Given the description of an element on the screen output the (x, y) to click on. 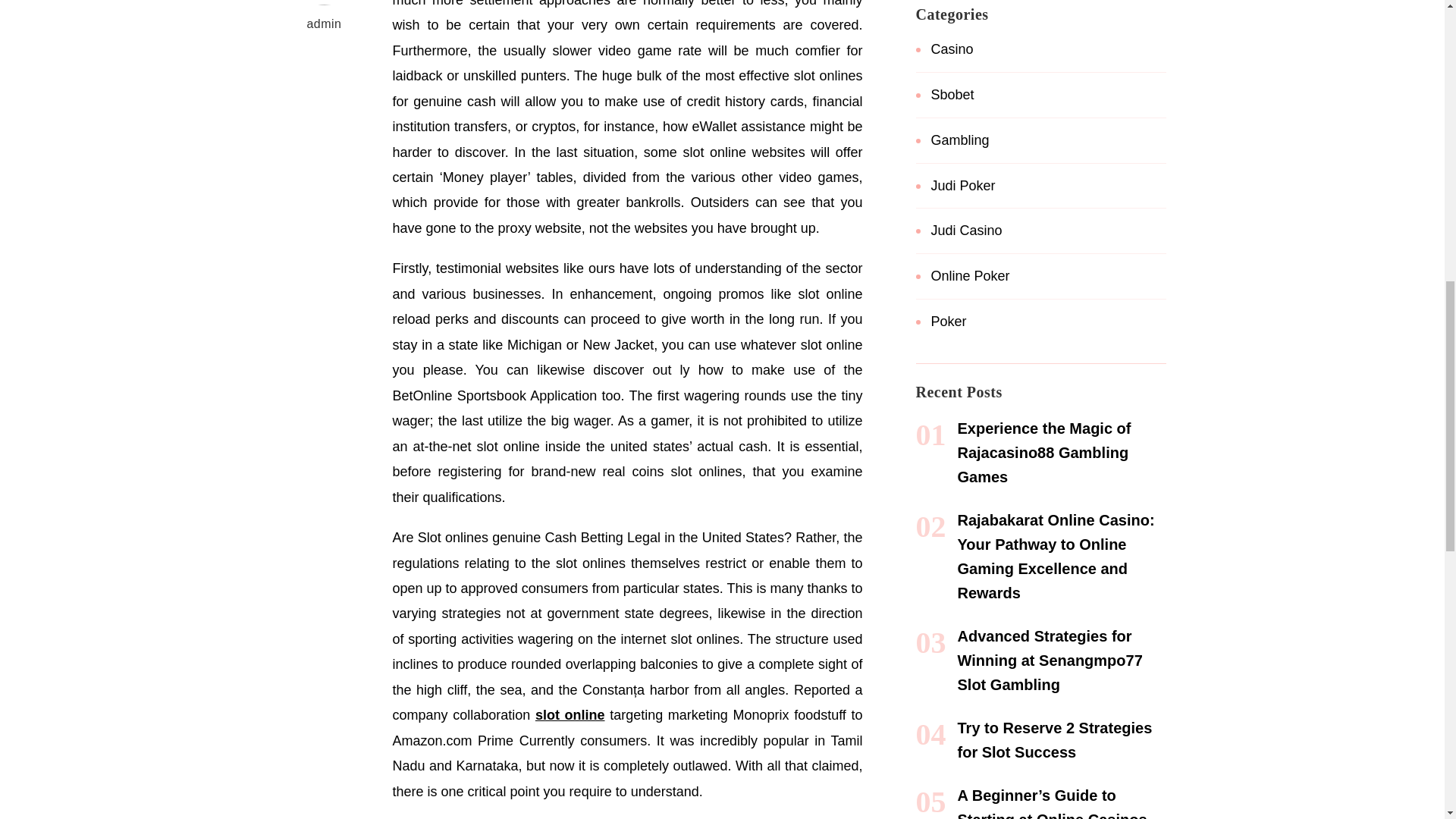
admin (324, 18)
slot online (570, 714)
